Given the description of an element on the screen output the (x, y) to click on. 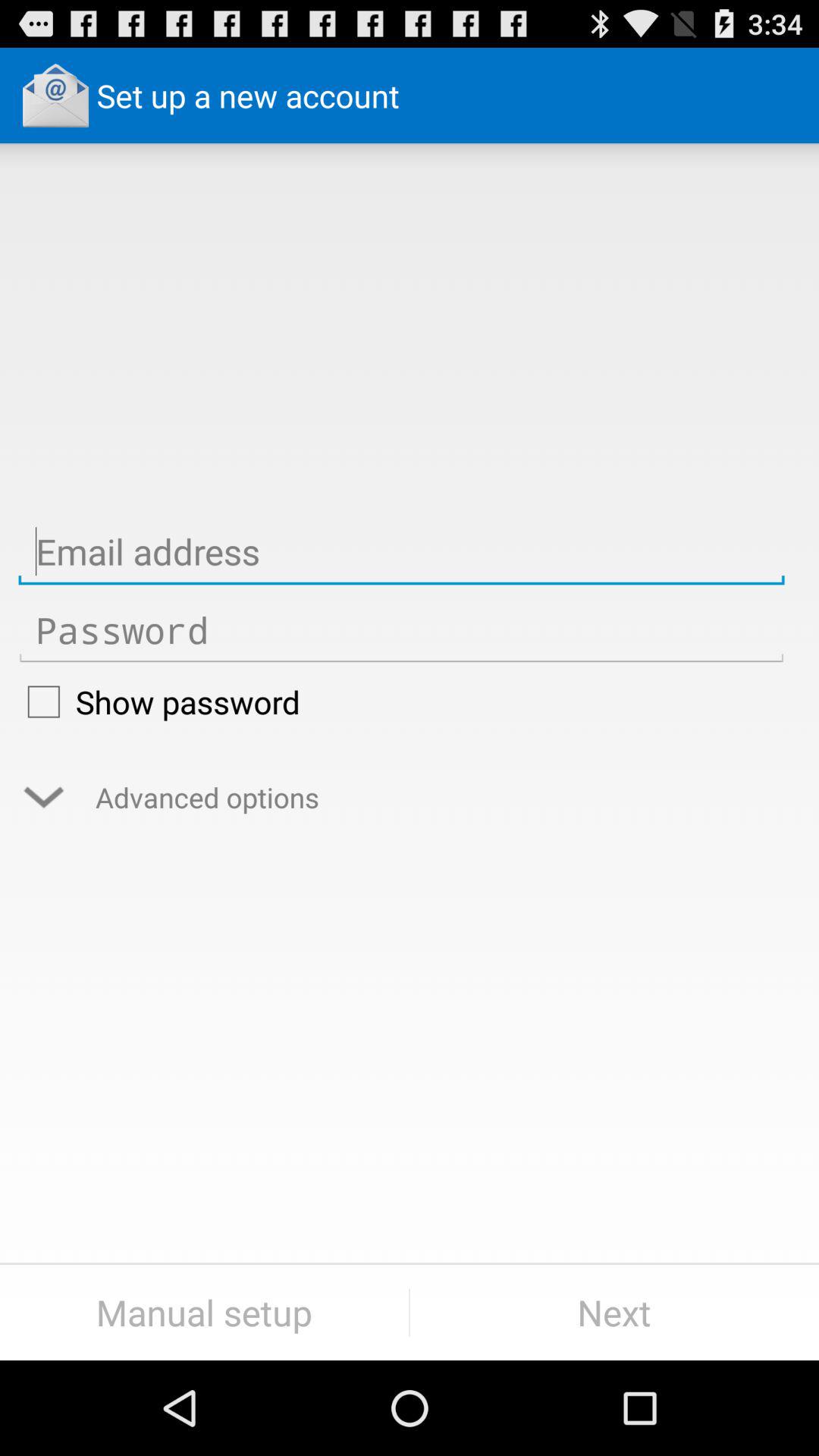
turn on the button at the bottom left corner (204, 1312)
